Given the description of an element on the screen output the (x, y) to click on. 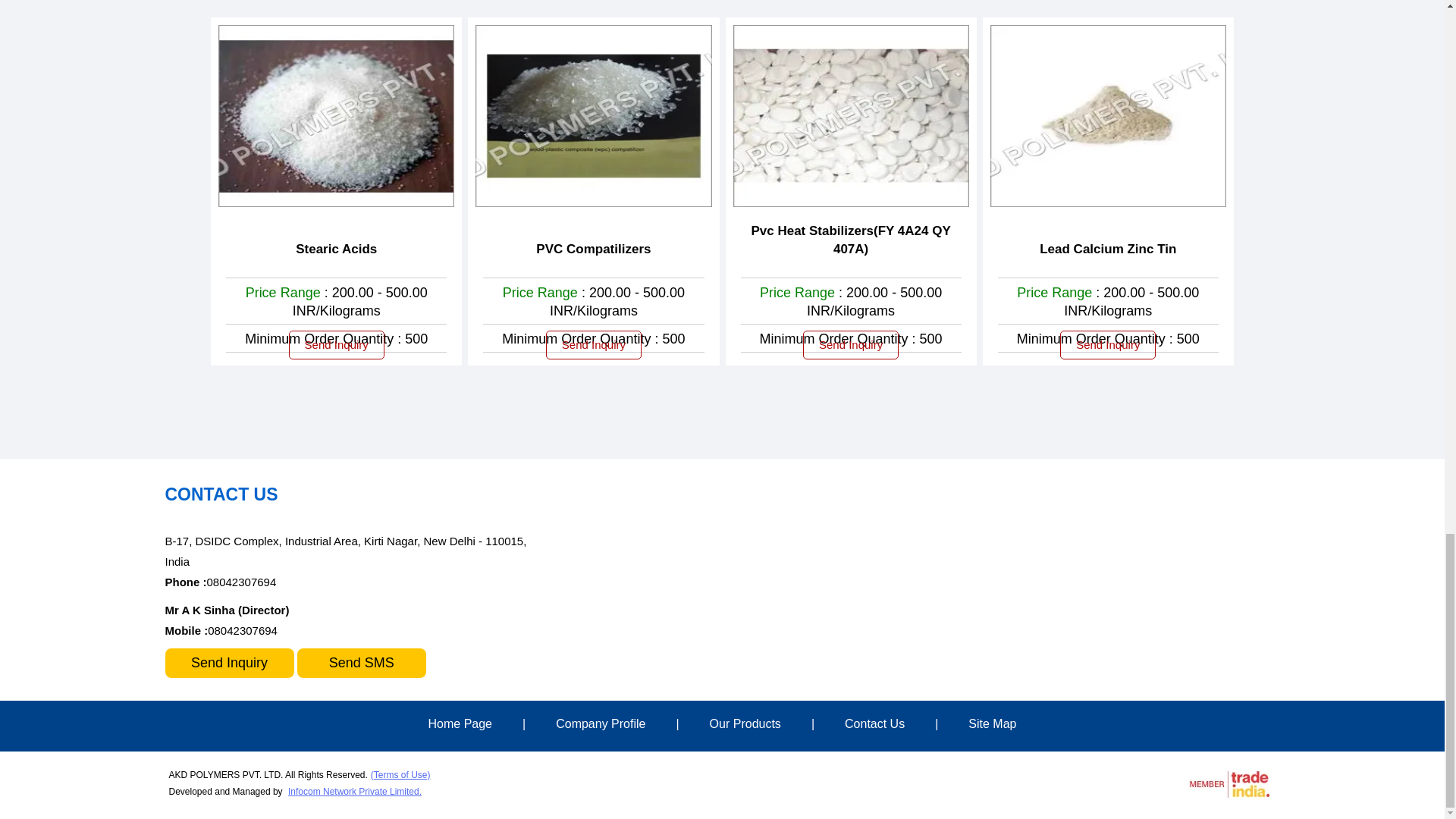
Send Inquiry (336, 344)
Stearic Acids (336, 249)
Send Inquiry (594, 344)
PVC Compatilizers (592, 249)
